Given the description of an element on the screen output the (x, y) to click on. 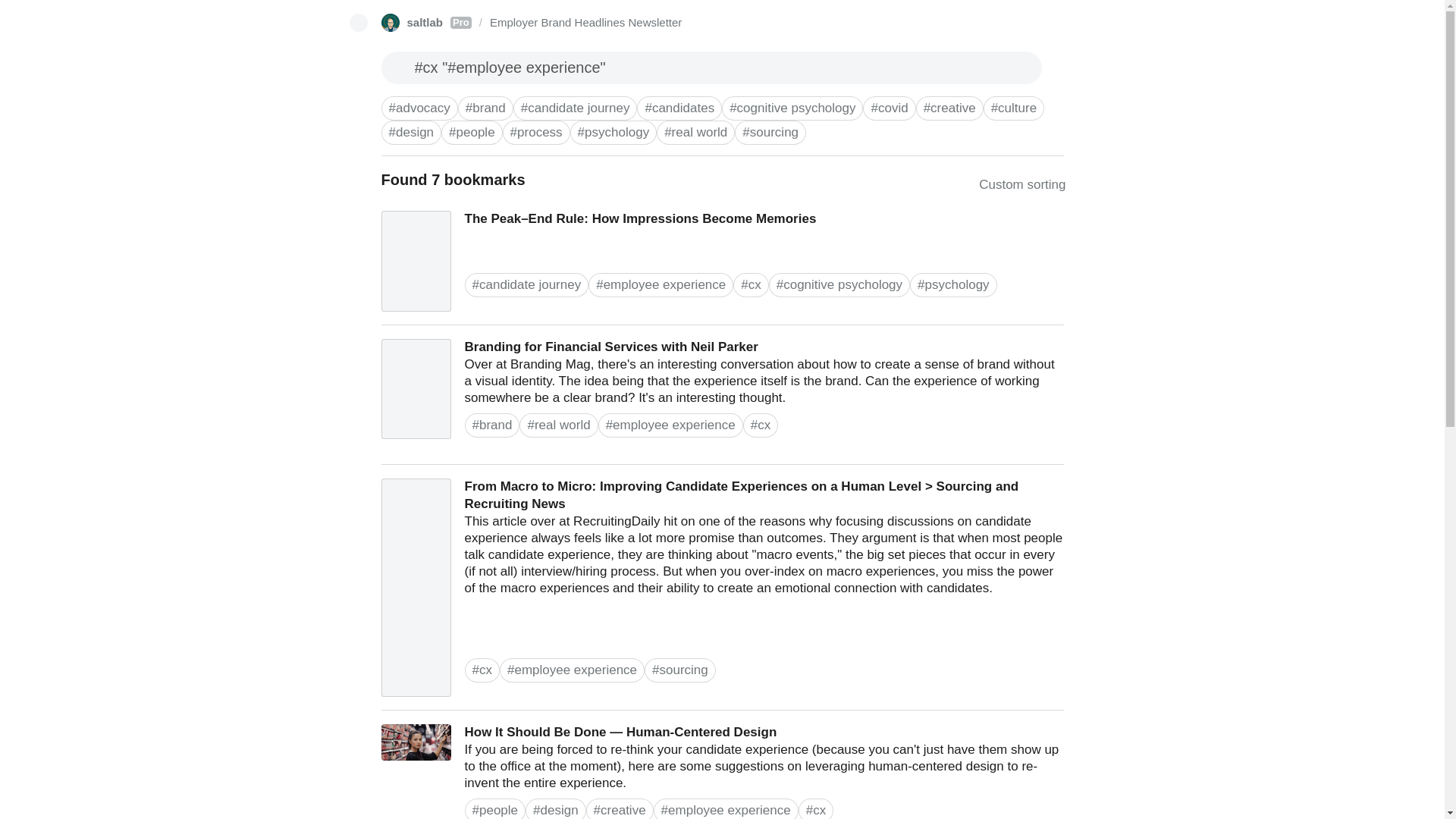
Go back (357, 22)
Branding for Financial Services with Neil Parker (425, 22)
Employer Brand Headlines Newsletter (721, 395)
